Given the description of an element on the screen output the (x, y) to click on. 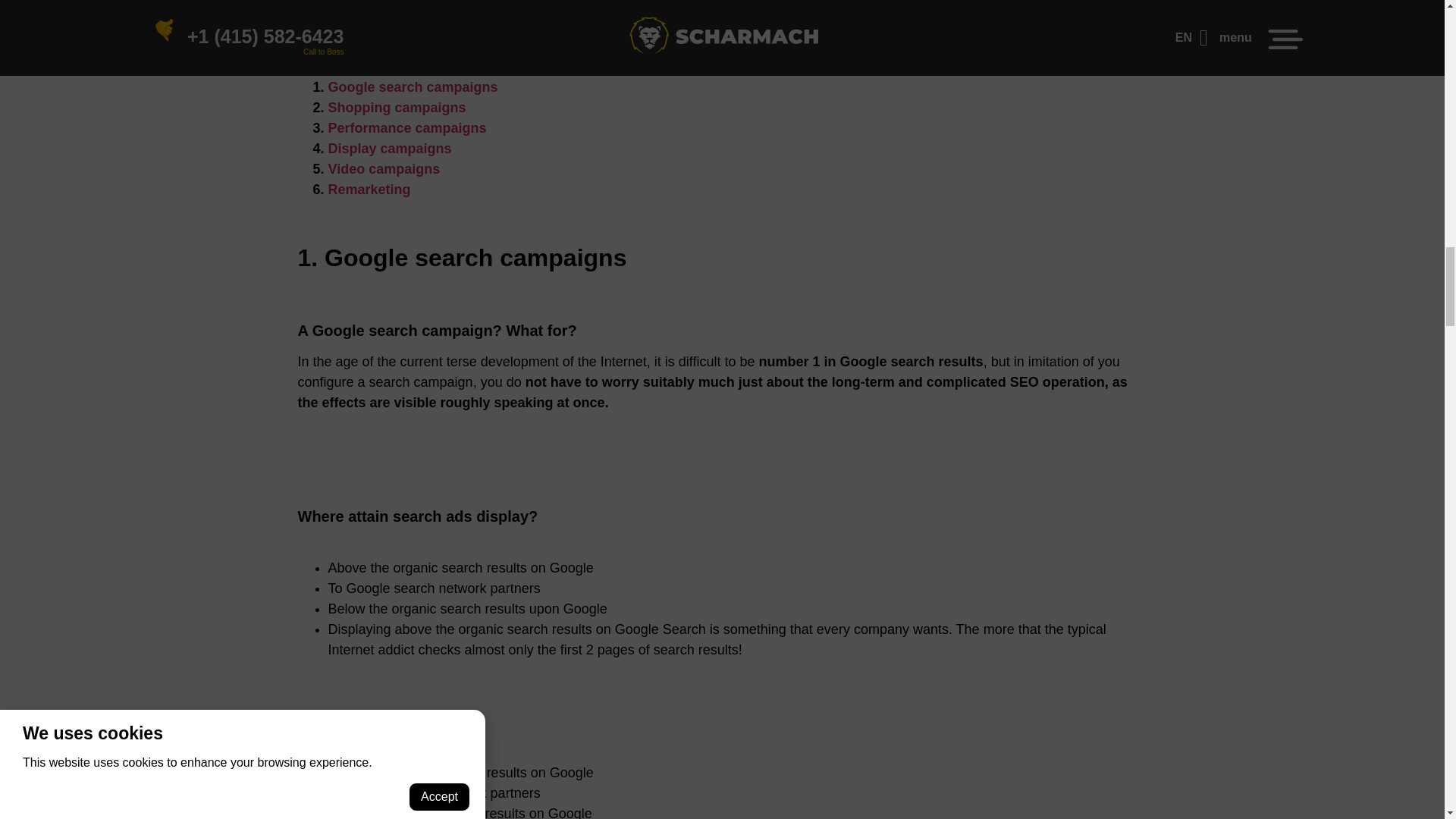
Google search campaigns (412, 87)
Performance campaigns (406, 127)
Shopping campaigns (396, 107)
Video campaigns (383, 168)
Remarketing (368, 189)
Display campaigns (389, 148)
